Given the description of an element on the screen output the (x, y) to click on. 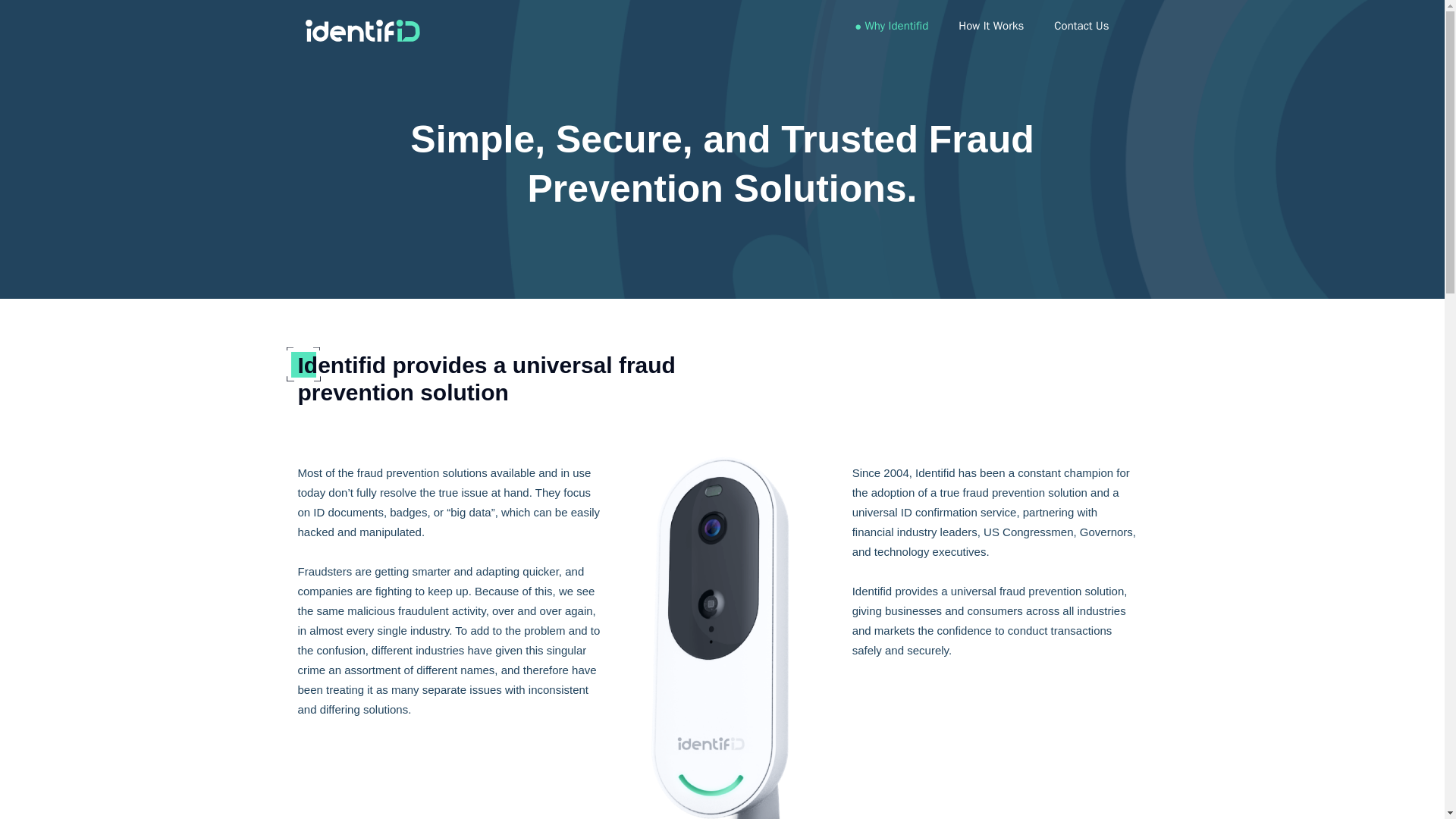
How It Works (990, 26)
Contact Us (1081, 26)
Why Identifid (896, 26)
